Given the description of an element on the screen output the (x, y) to click on. 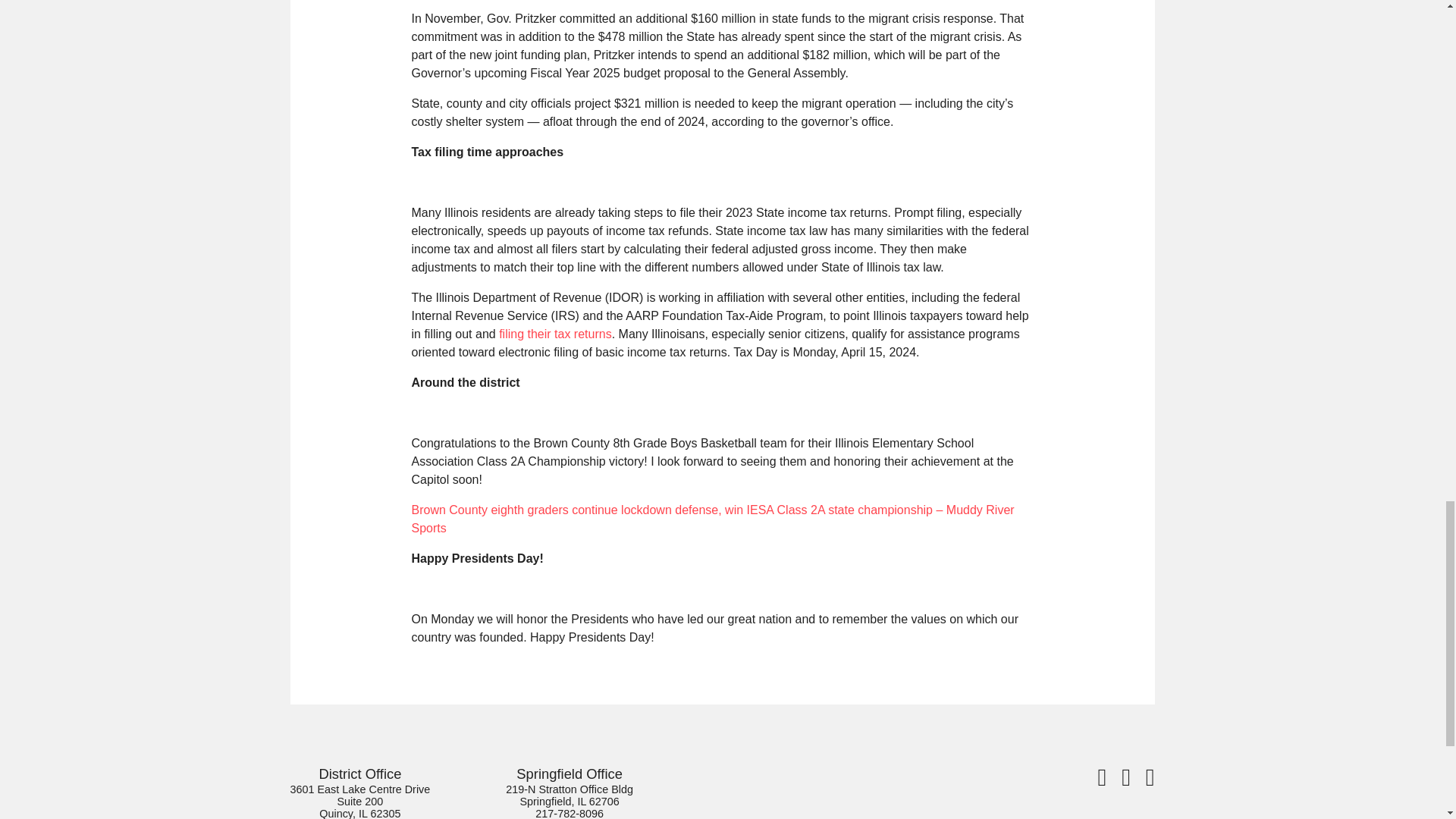
filing their tax returns (555, 333)
